Given the description of an element on the screen output the (x, y) to click on. 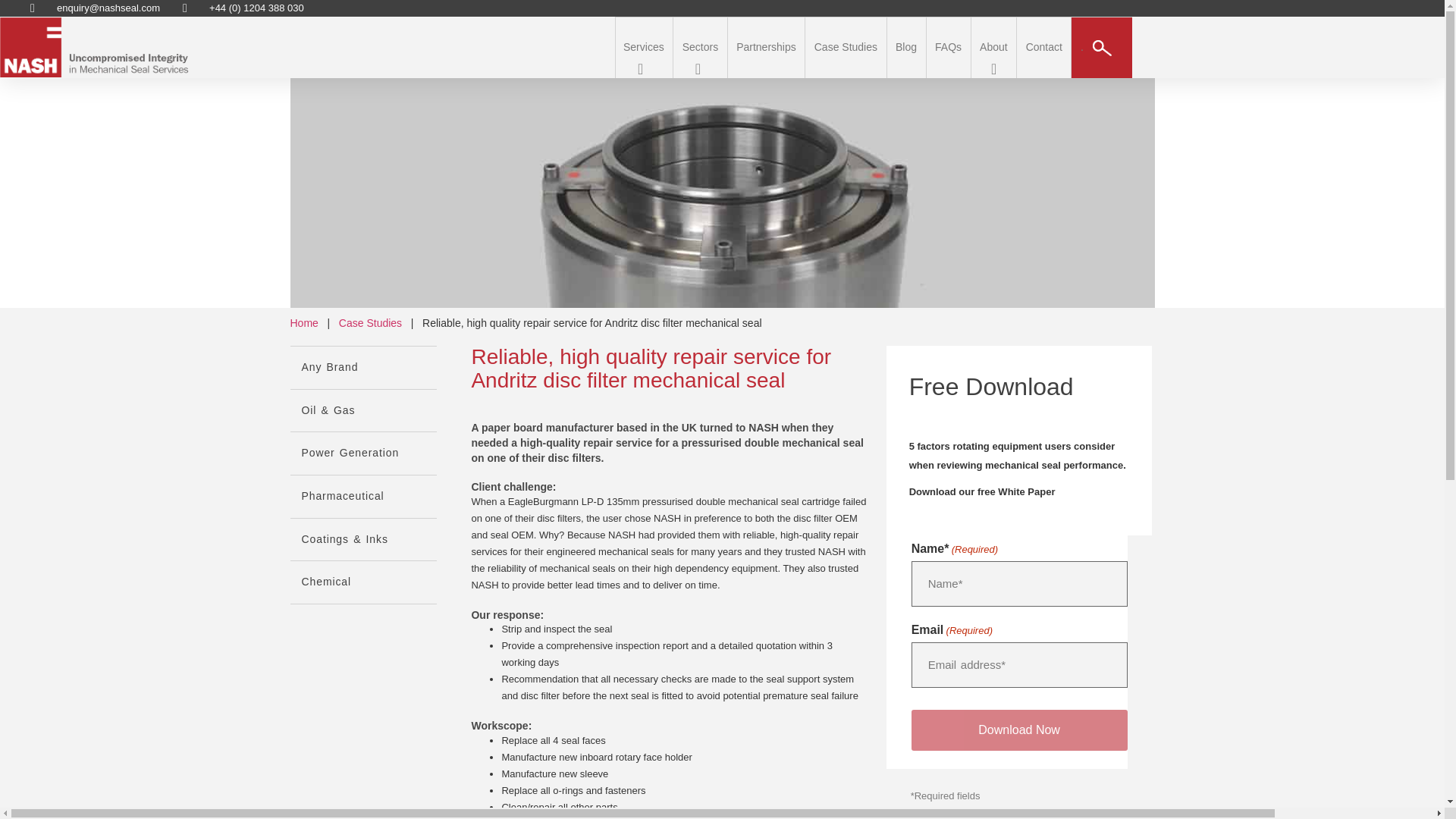
Download Now (1018, 730)
Sectors (699, 47)
Services (643, 47)
Partnerships (766, 47)
Case Studies (845, 47)
Contact (1044, 47)
. (1106, 47)
FAQs (947, 47)
Blog (906, 47)
About (993, 47)
